Given the description of an element on the screen output the (x, y) to click on. 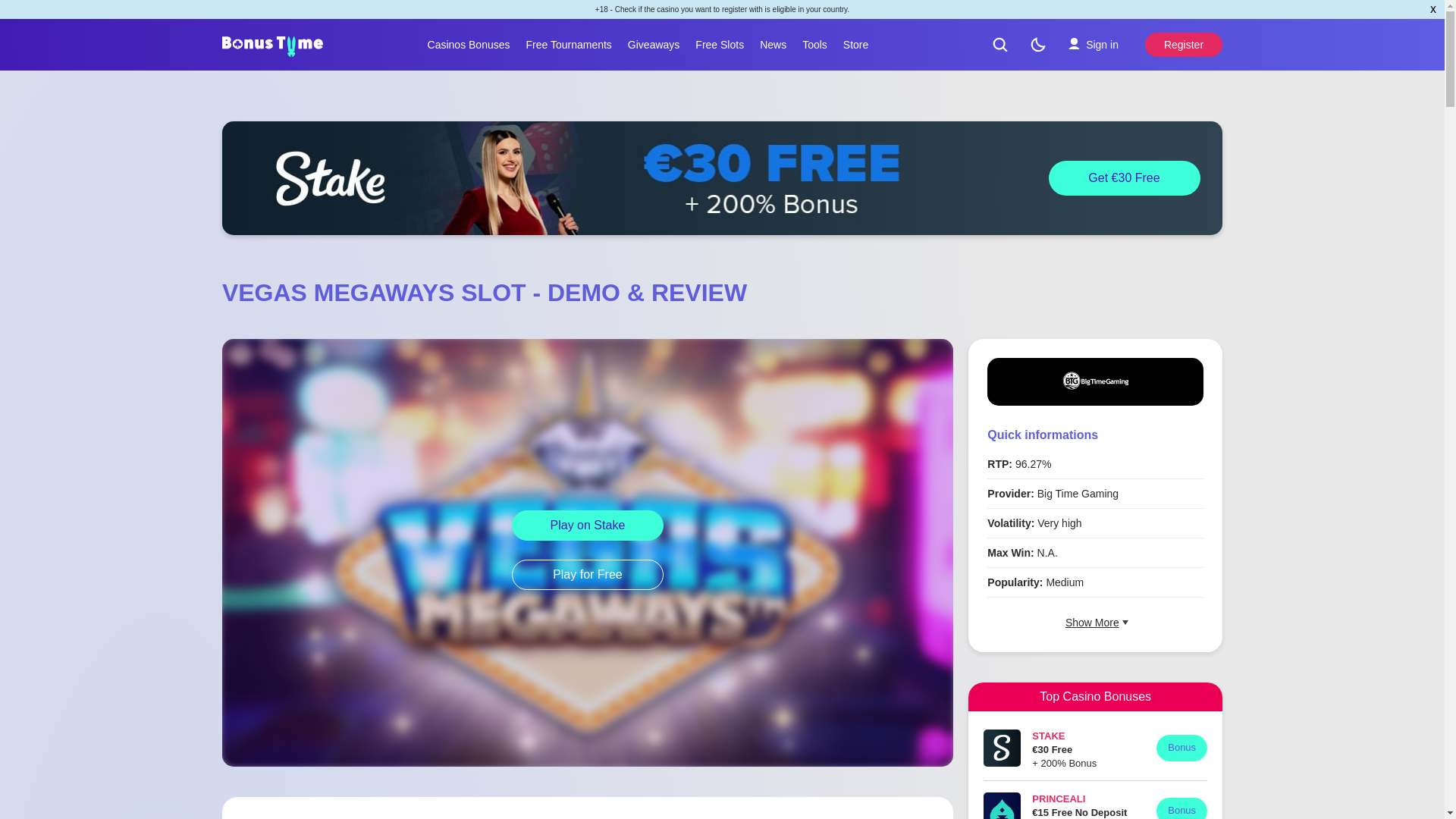
Sign in (1093, 43)
Giveaways (653, 43)
Casinos Bonuses (469, 43)
Free Tournaments (568, 43)
Register (1183, 43)
Free Slots (718, 43)
